Given the description of an element on the screen output the (x, y) to click on. 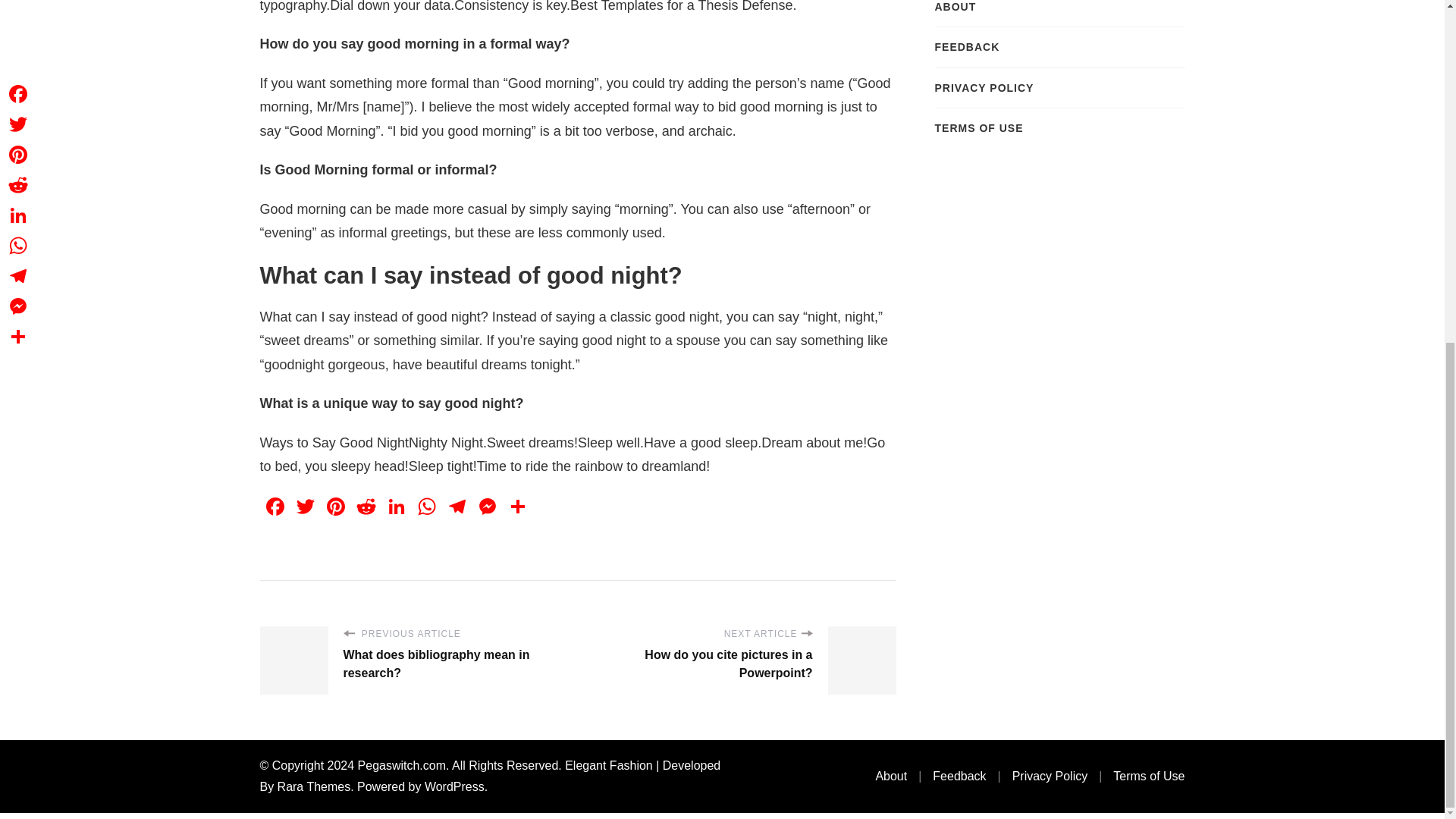
Twitter (304, 508)
Pinterest (335, 508)
Telegram (456, 508)
ABOUT (954, 7)
Twitter (304, 508)
Rara Themes (314, 786)
TERMS OF USE (978, 127)
Reddit (365, 508)
Messenger (486, 508)
WordPress (454, 786)
FEEDBACK (966, 46)
WhatsApp (425, 508)
Pegaswitch.com (401, 765)
WhatsApp (425, 508)
Pinterest (335, 508)
